Given the description of an element on the screen output the (x, y) to click on. 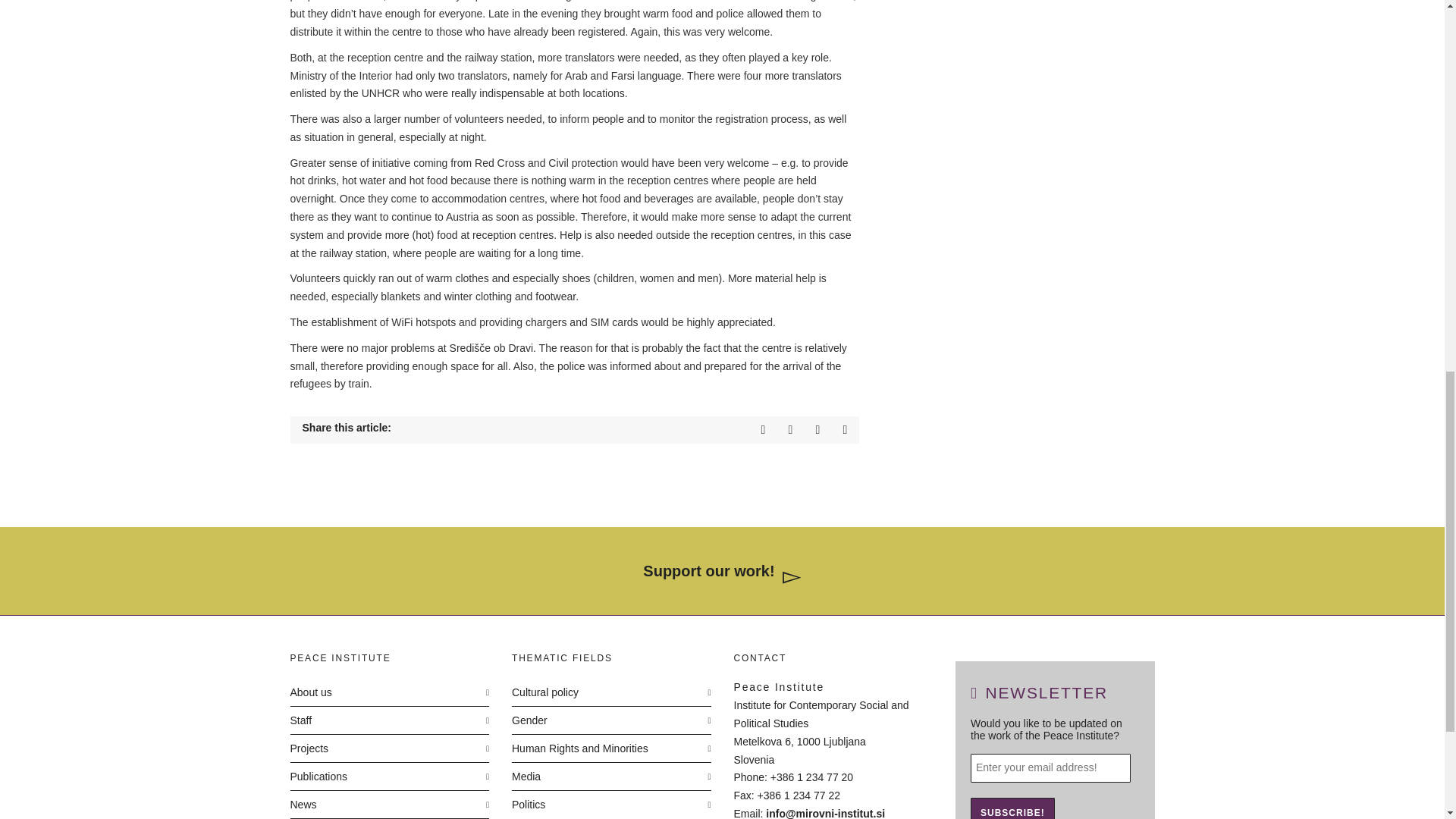
Subscribe! (1012, 808)
Enter your email address! (1051, 767)
